Given the description of an element on the screen output the (x, y) to click on. 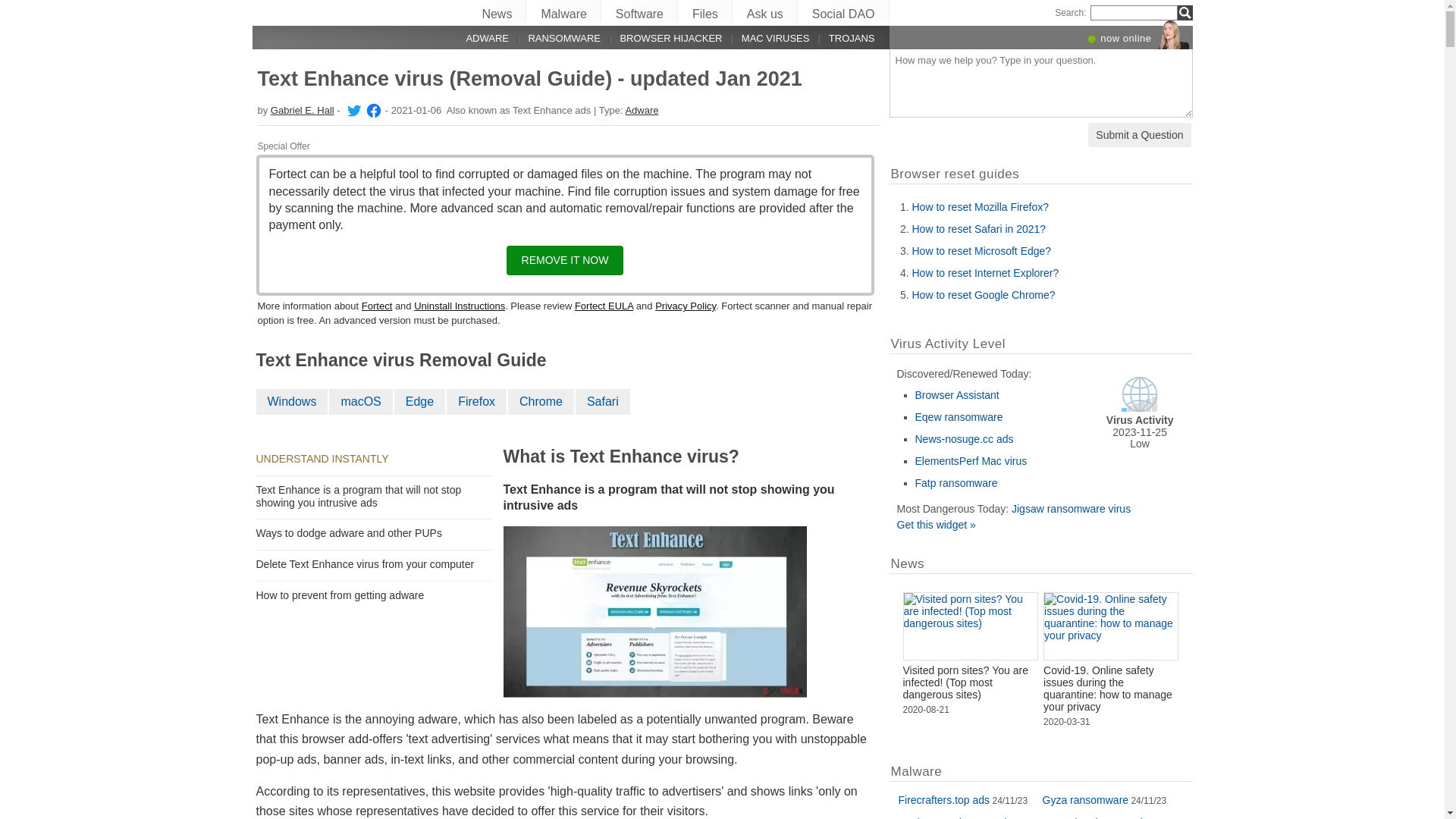
Files Element type: text (705, 11)
TROJANS Element type: text (841, 37)
Windows Element type: text (292, 402)
Browser Assistant Element type: text (956, 395)
Malware Element type: text (563, 11)
ElementsPerf Mac virus Element type: text (970, 461)
Software Element type: text (639, 11)
Submit a Question Element type: text (1139, 134)
How to reset Internet Explorer? Element type: text (984, 272)
Ways to dodge adware and other PUPs Element type: text (351, 533)
Privacy Policy Element type: text (685, 305)
Gyza ransomware Element type: text (1084, 799)
Edge Element type: text (420, 402)
Gabriel E. Hall Element type: hover (372, 110)
2-spyware.com Element type: hover (296, 11)
Chrome Element type: text (541, 402)
Gabriel E. Hall Element type: text (302, 110)
Fortect EULA Element type: text (603, 305)
REMOVE IT NOW Element type: text (565, 260)
Firefox Element type: text (477, 402)
Fatp ransomware Element type: text (955, 482)
macOS Element type: text (361, 402)
Social DAO Element type: text (843, 11)
Delete Text Enhance virus from your computer Element type: text (368, 564)
ADWARE Element type: text (478, 37)
Jigsaw ransomware virus Element type: text (1070, 508)
News-nosuge.cc ads Element type: text (963, 439)
How to reset Mozilla Firefox? Element type: text (979, 206)
How to reset Google Chrome? Element type: text (982, 294)
News Element type: text (496, 11)
How to reset Microsoft Edge? Element type: text (981, 250)
Adware Element type: text (641, 110)
Virus Activity Element type: text (1139, 408)
Uninstall Instructions Element type: text (459, 305)
Text Enhance virus Element type: hover (654, 611)
Search: Element type: text (1069, 12)
BROWSER HIJACKER Element type: text (660, 37)
MAC VIRUSES Element type: text (765, 37)
Fortect Element type: text (376, 305)
Safari Element type: text (603, 402)
RANSOMWARE Element type: text (554, 37)
How to reset Safari in 2021? Element type: text (978, 228)
Firecrafters.top ads Element type: text (943, 799)
How to prevent from getting adware Element type: text (342, 595)
Ask us Element type: text (765, 11)
Gabriel E. Hall Element type: hover (352, 110)
Eqew ransomware Element type: text (958, 417)
